Given the description of an element on the screen output the (x, y) to click on. 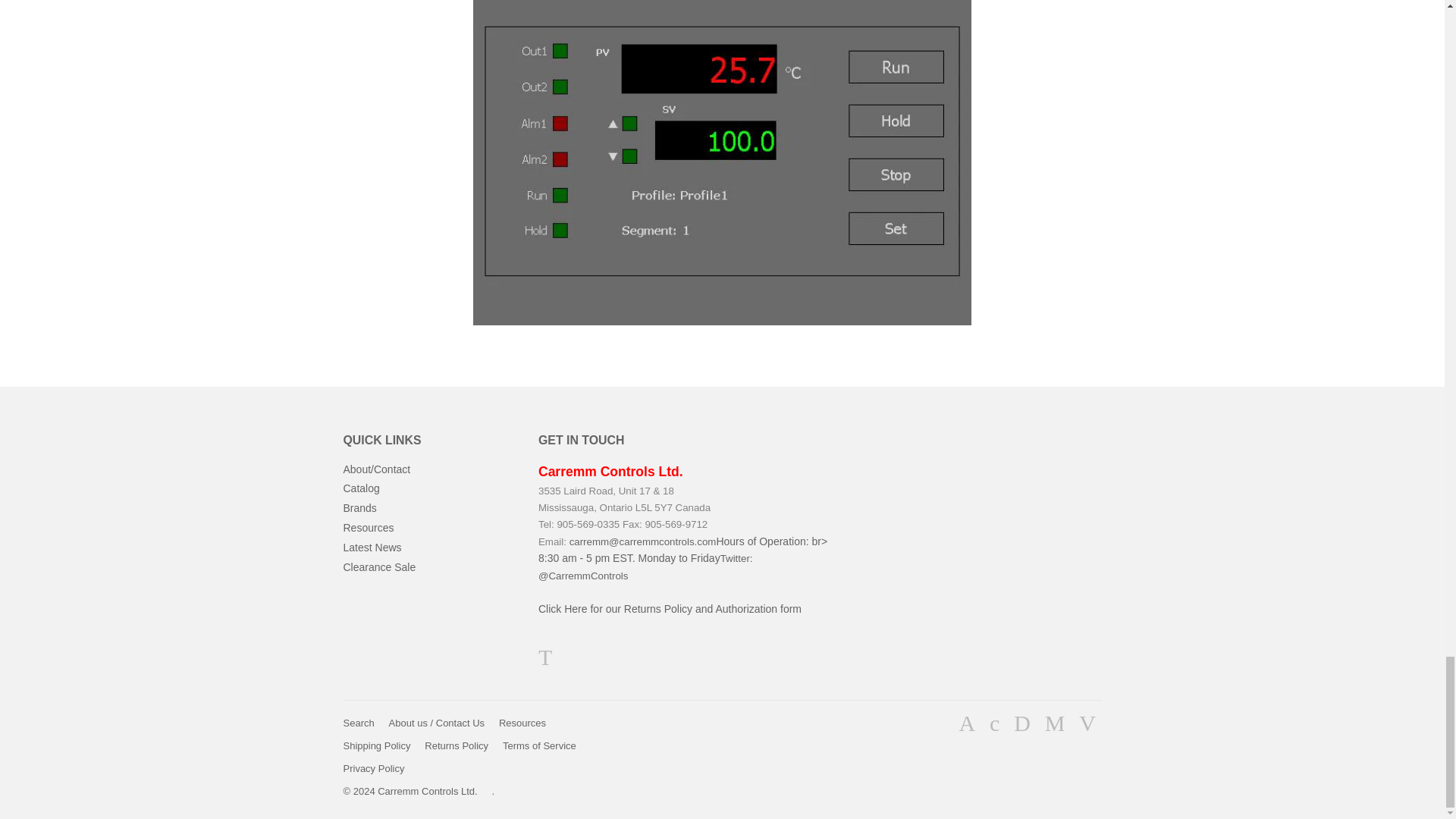
Carremm Controls Ltd. on Twitter (544, 661)
